Given the description of an element on the screen output the (x, y) to click on. 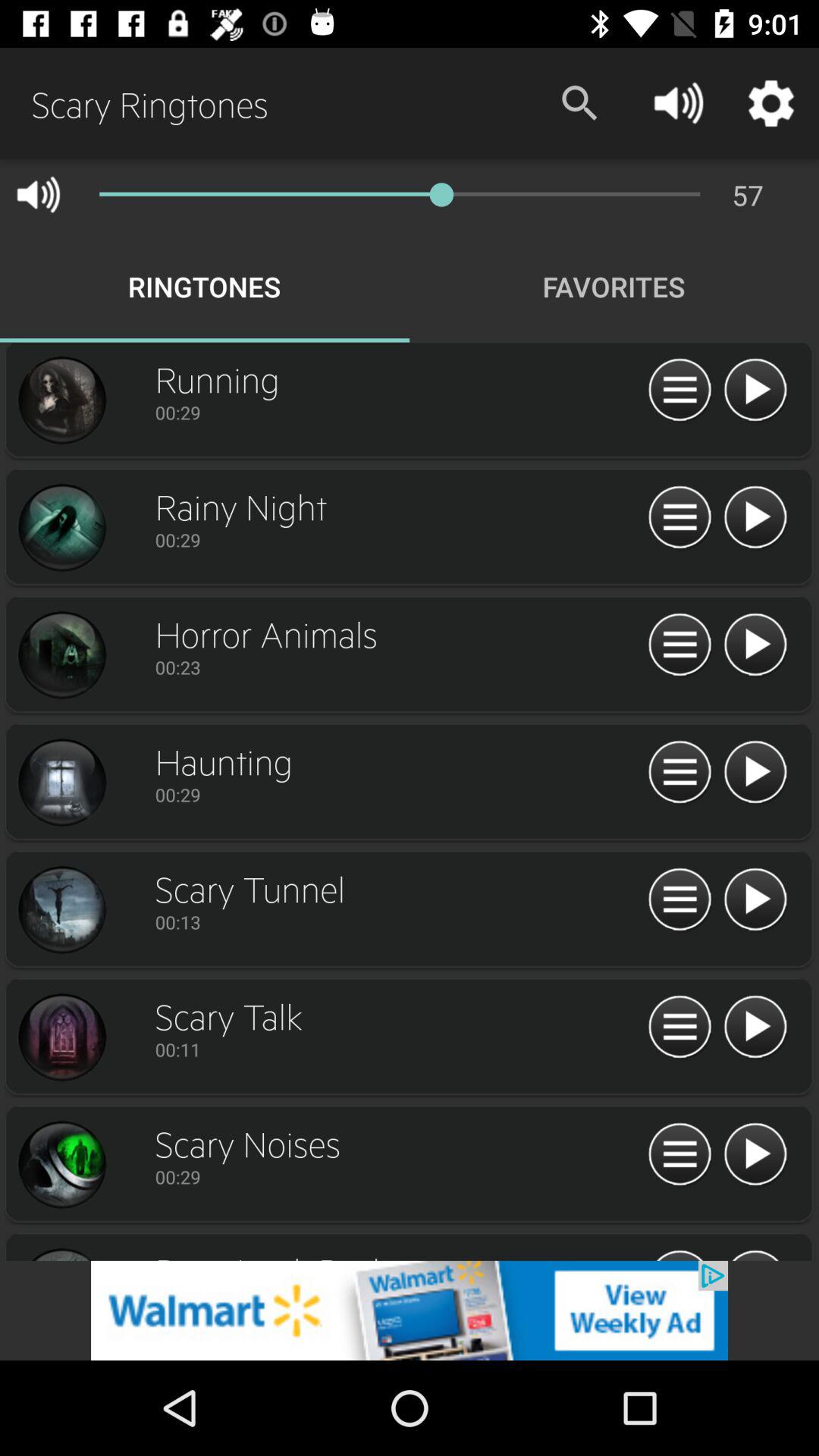
ringtone category icon (61, 655)
